Given the description of an element on the screen output the (x, y) to click on. 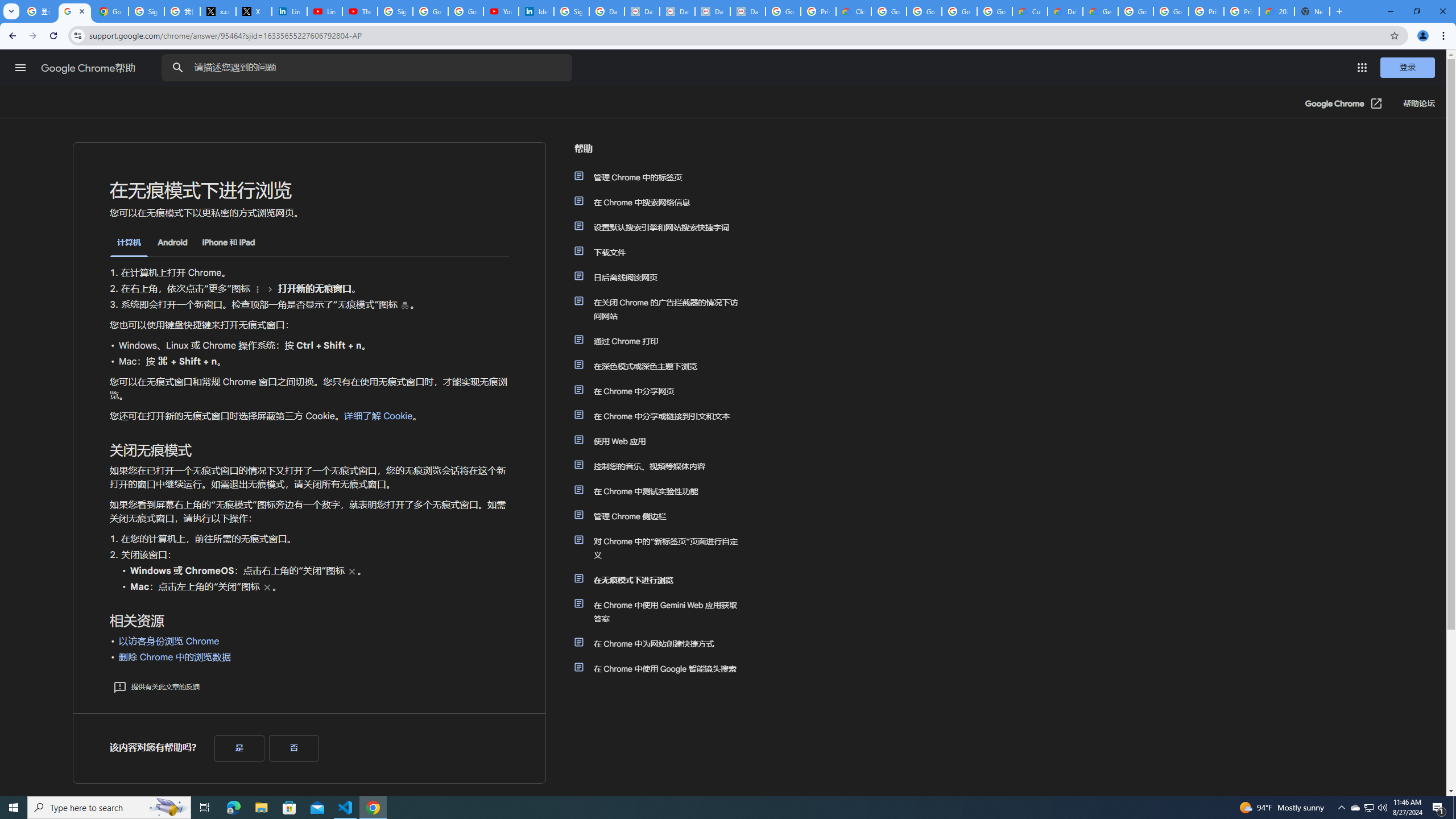
LinkedIn Privacy Policy (288, 11)
